Given the description of an element on the screen output the (x, y) to click on. 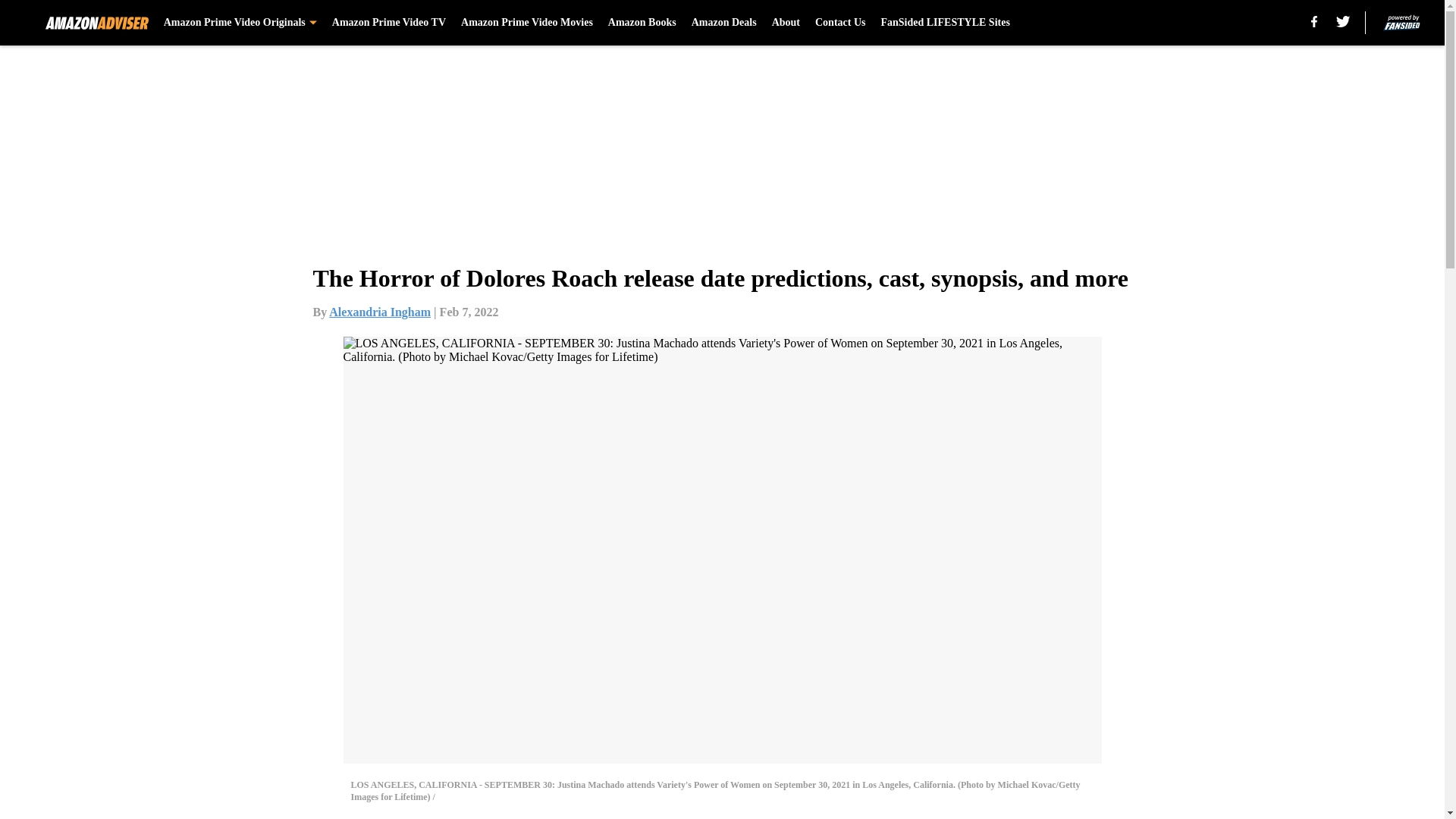
Alexandria Ingham (379, 311)
Amazon Books (642, 22)
FanSided LIFESTYLE Sites (944, 22)
Contact Us (840, 22)
Amazon Deals (724, 22)
Amazon Prime Video Movies (526, 22)
About (785, 22)
Amazon Prime Video TV (388, 22)
